Given the description of an element on the screen output the (x, y) to click on. 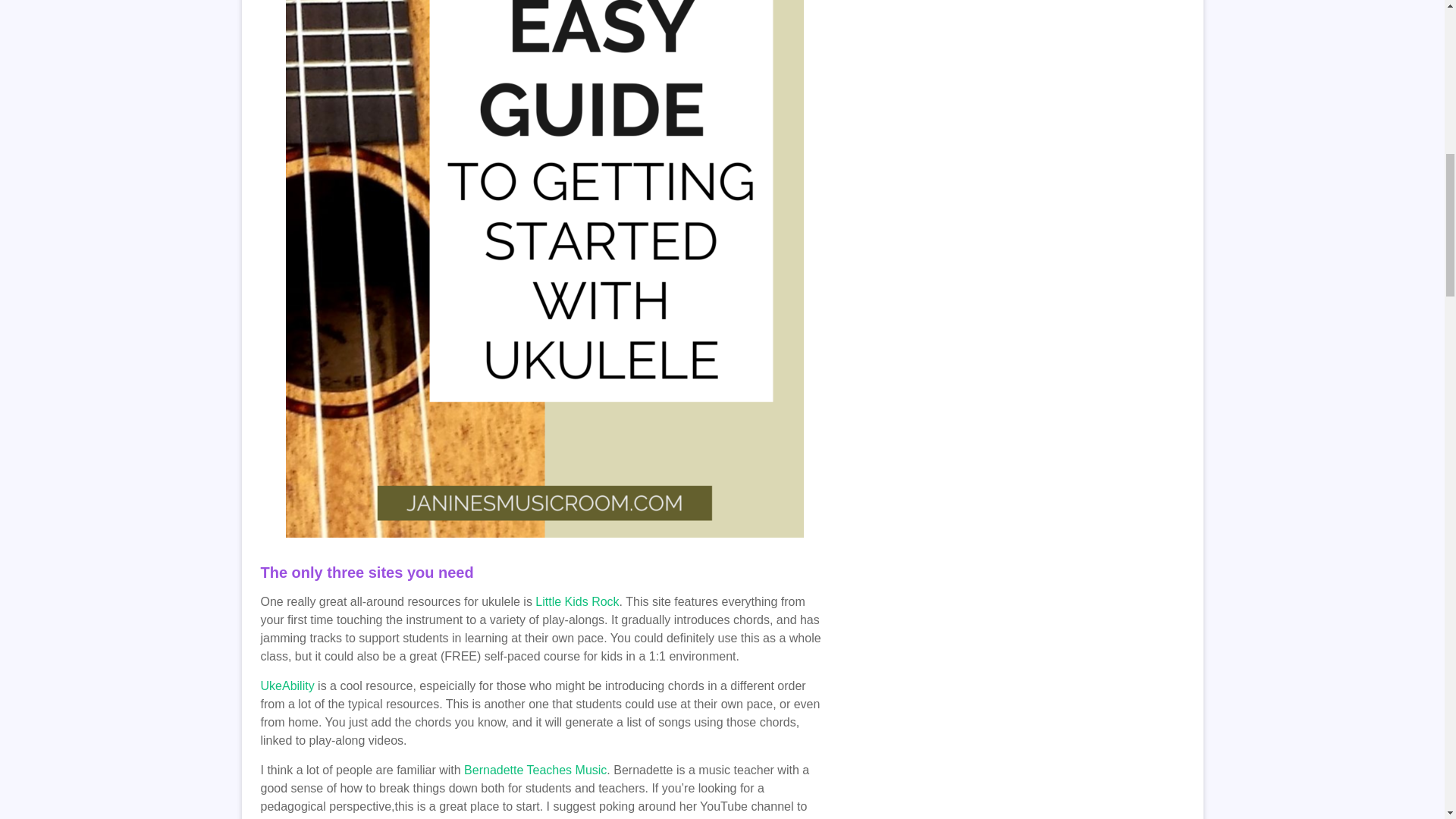
Little Kids Rock (576, 601)
Bernadette Teaches Music (535, 769)
Little Kids Rock (576, 601)
UkeAbility (287, 685)
